Given the description of an element on the screen output the (x, y) to click on. 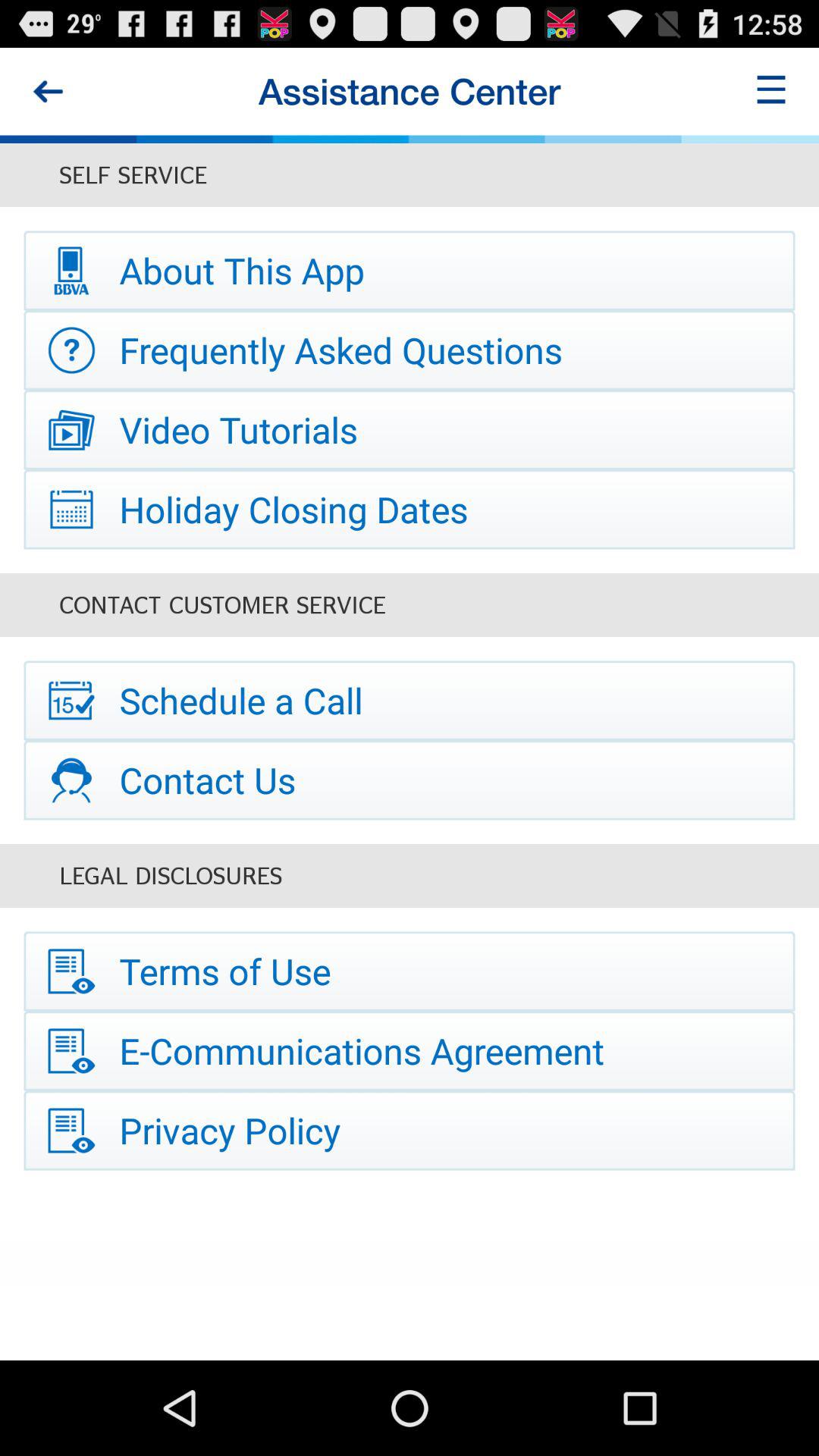
click item at the top right corner (771, 91)
